Given the description of an element on the screen output the (x, y) to click on. 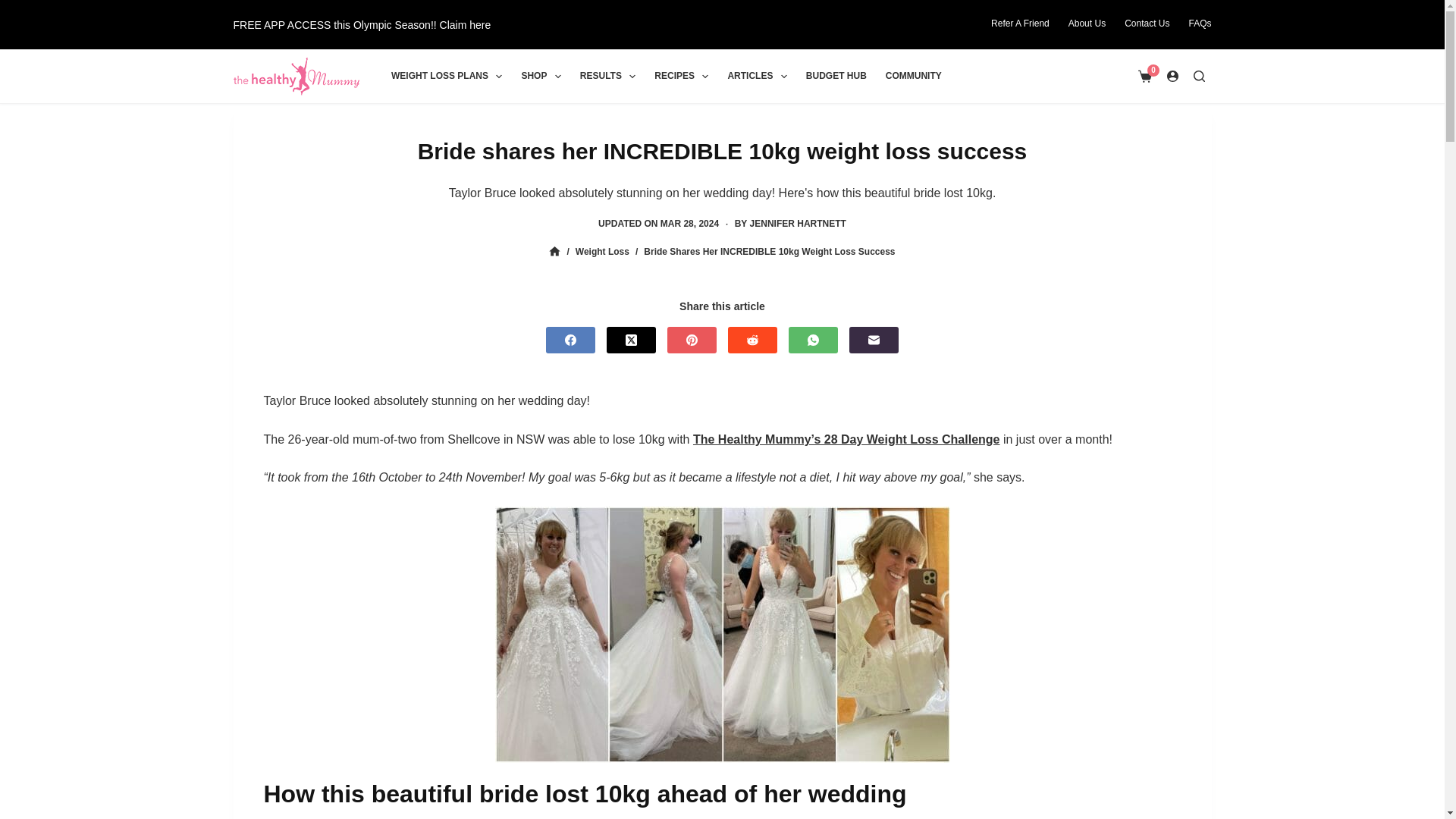
Get our offer (362, 23)
Skip to content (15, 7)
Posts by Jennifer Hartnett (797, 223)
Bride shares her INCREDIBLE 10kg weight loss success (721, 150)
